Given the description of an element on the screen output the (x, y) to click on. 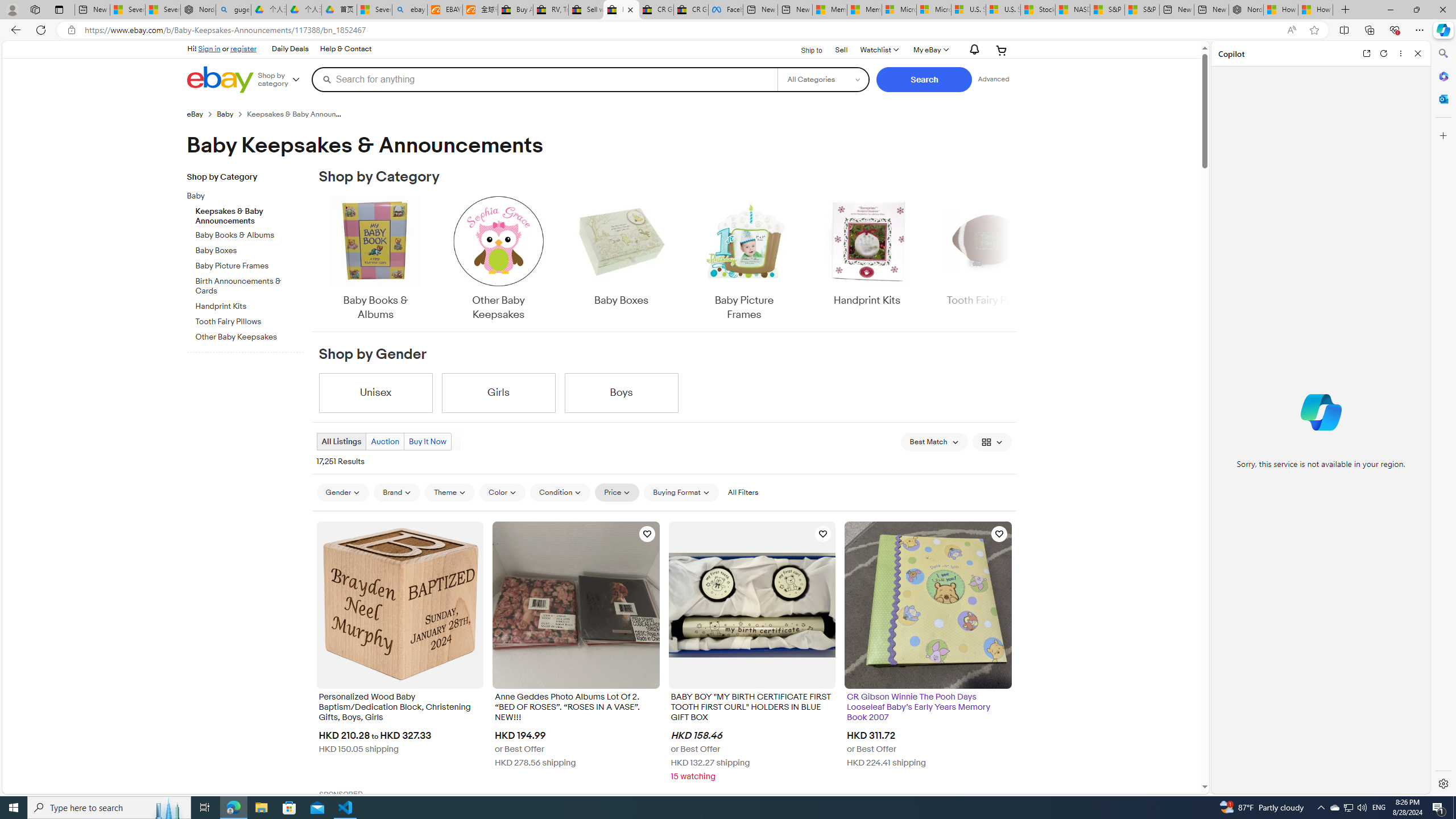
All Listings Current view (341, 441)
Gender (342, 492)
Brand (397, 492)
Daily Deals (289, 49)
eBay (194, 113)
Girls (498, 392)
Handprint Kits (866, 258)
All Filters (742, 492)
Buy It Now (427, 441)
Expand Cart (1001, 49)
